Given the description of an element on the screen output the (x, y) to click on. 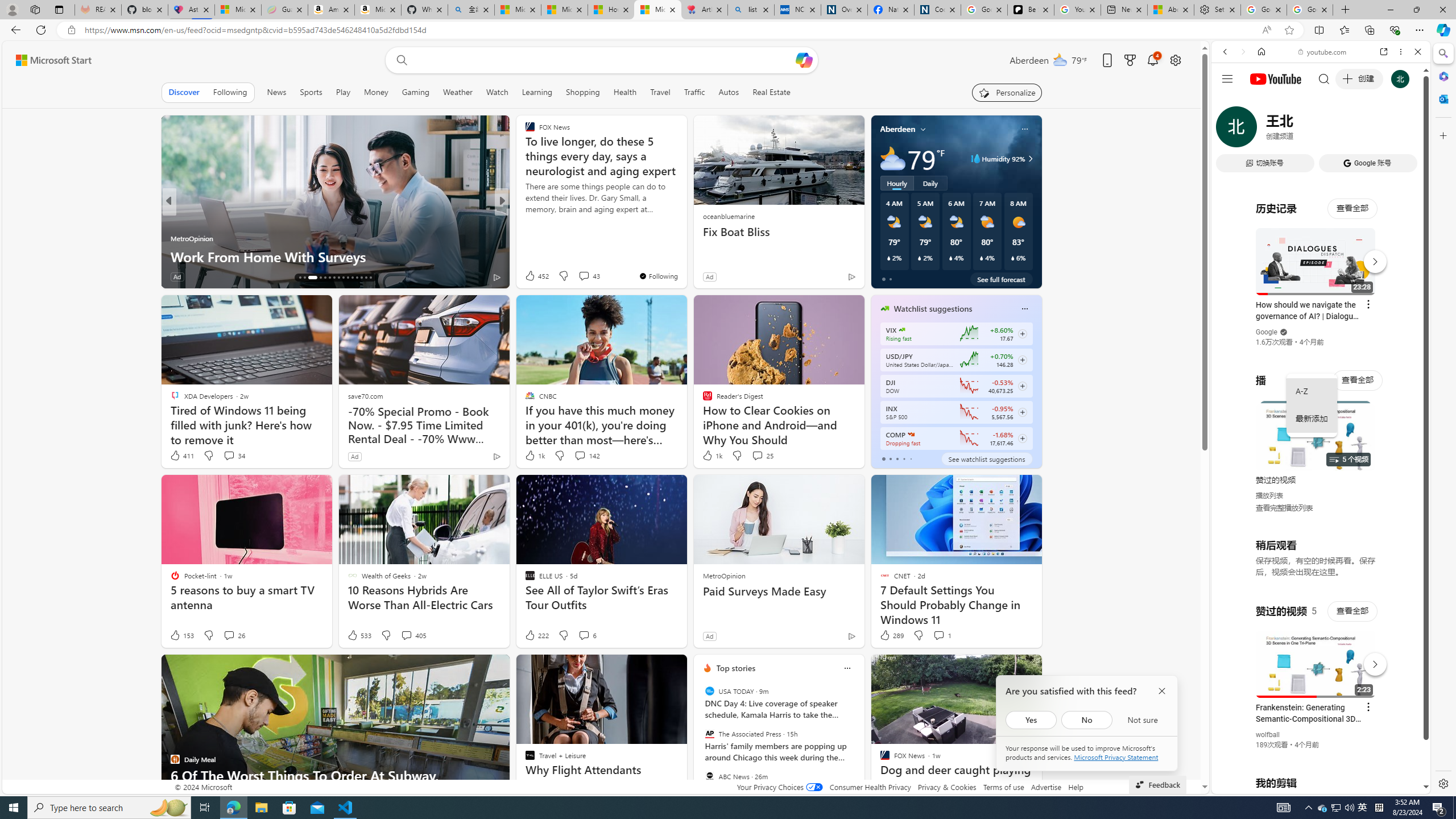
previous (699, 741)
Daily (929, 183)
View comments 26 Comment (228, 635)
View comments 34 Comment (233, 455)
Google (1266, 331)
Yes (1031, 719)
72 Like (530, 276)
next (858, 741)
Cookies (937, 9)
View comments 1 Comment (942, 634)
Microsoft sends Windows Control Panel to tech graveyard (684, 247)
